Given the description of an element on the screen output the (x, y) to click on. 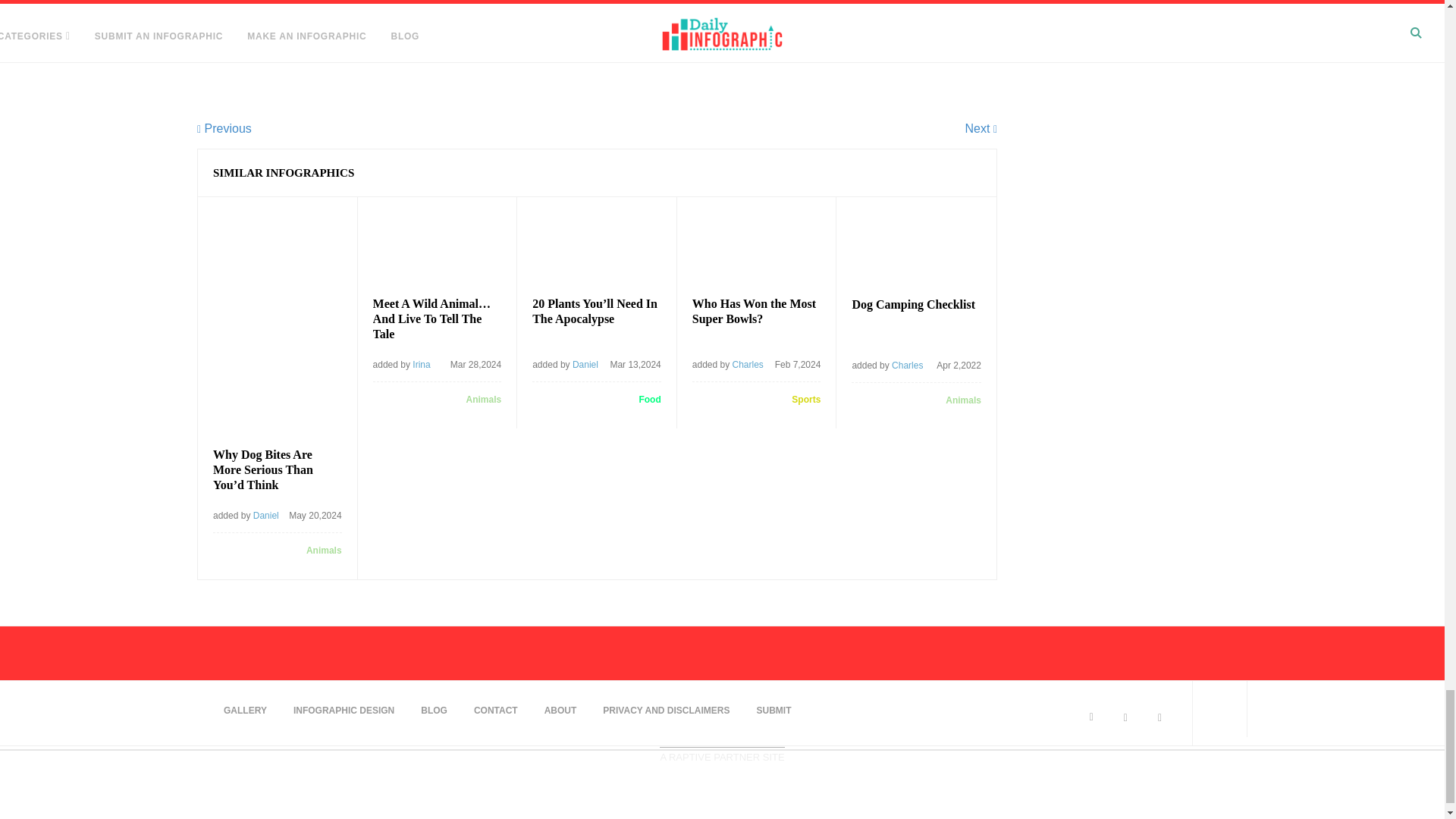
Posts by Charles (907, 365)
Posts by Irina (420, 364)
Posts by Daniel (585, 364)
Posts by Daniel (266, 515)
Posts by Charles (747, 364)
